Given the description of an element on the screen output the (x, y) to click on. 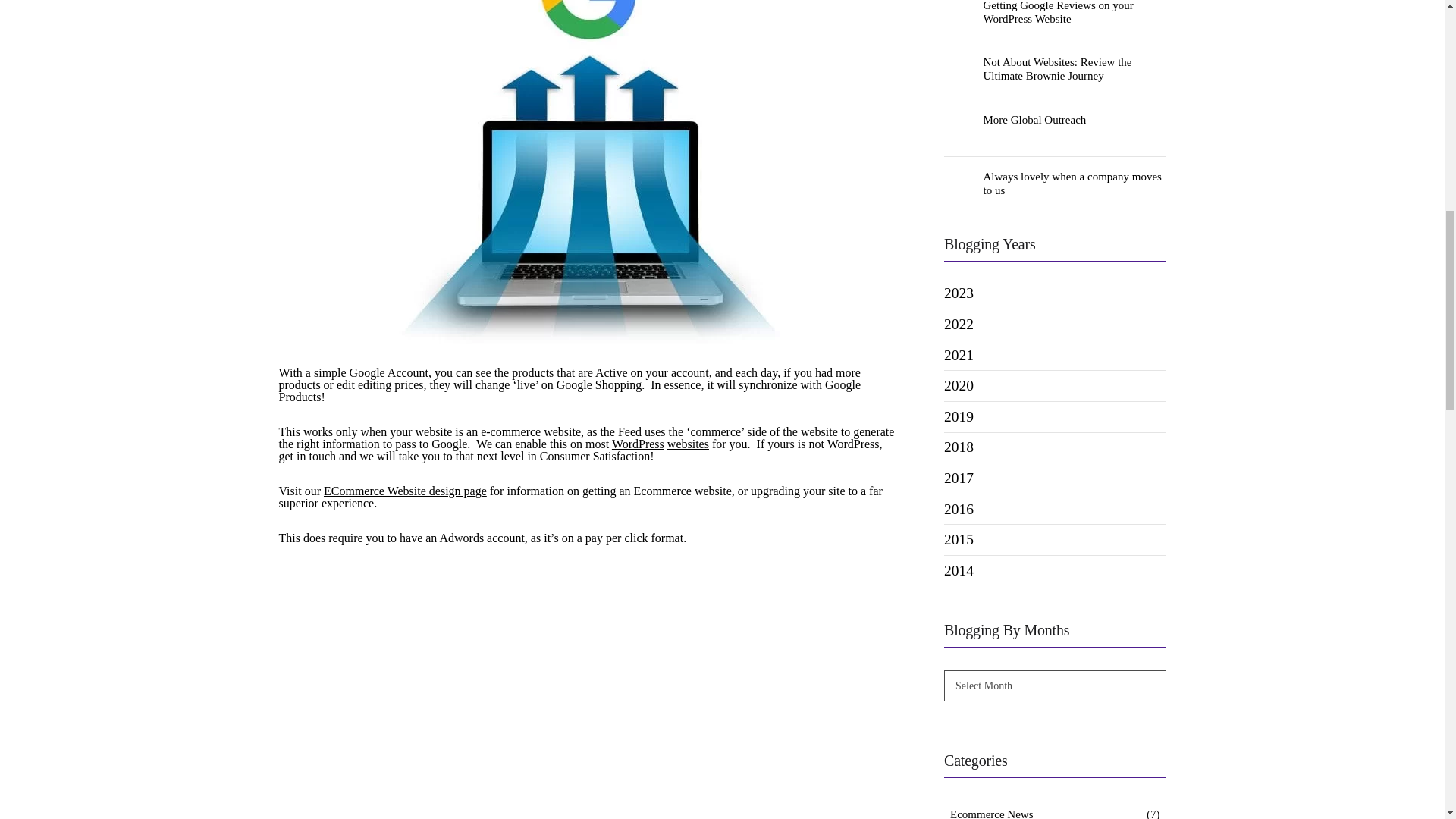
Getting Google Reviews on your WordPress Website (1075, 12)
More Global Outreach (958, 128)
Not About Websites:  Review the Ultimate Brownie Journey (1075, 68)
Always lovely when a company moves to us (1075, 183)
Always lovely when a company moves to us (958, 184)
More Global Outreach (1075, 119)
Getting Google Reviews on your WordPress Website (958, 14)
Not About Websites:  Review the Ultimate Brownie Journey (958, 70)
